Given the description of an element on the screen output the (x, y) to click on. 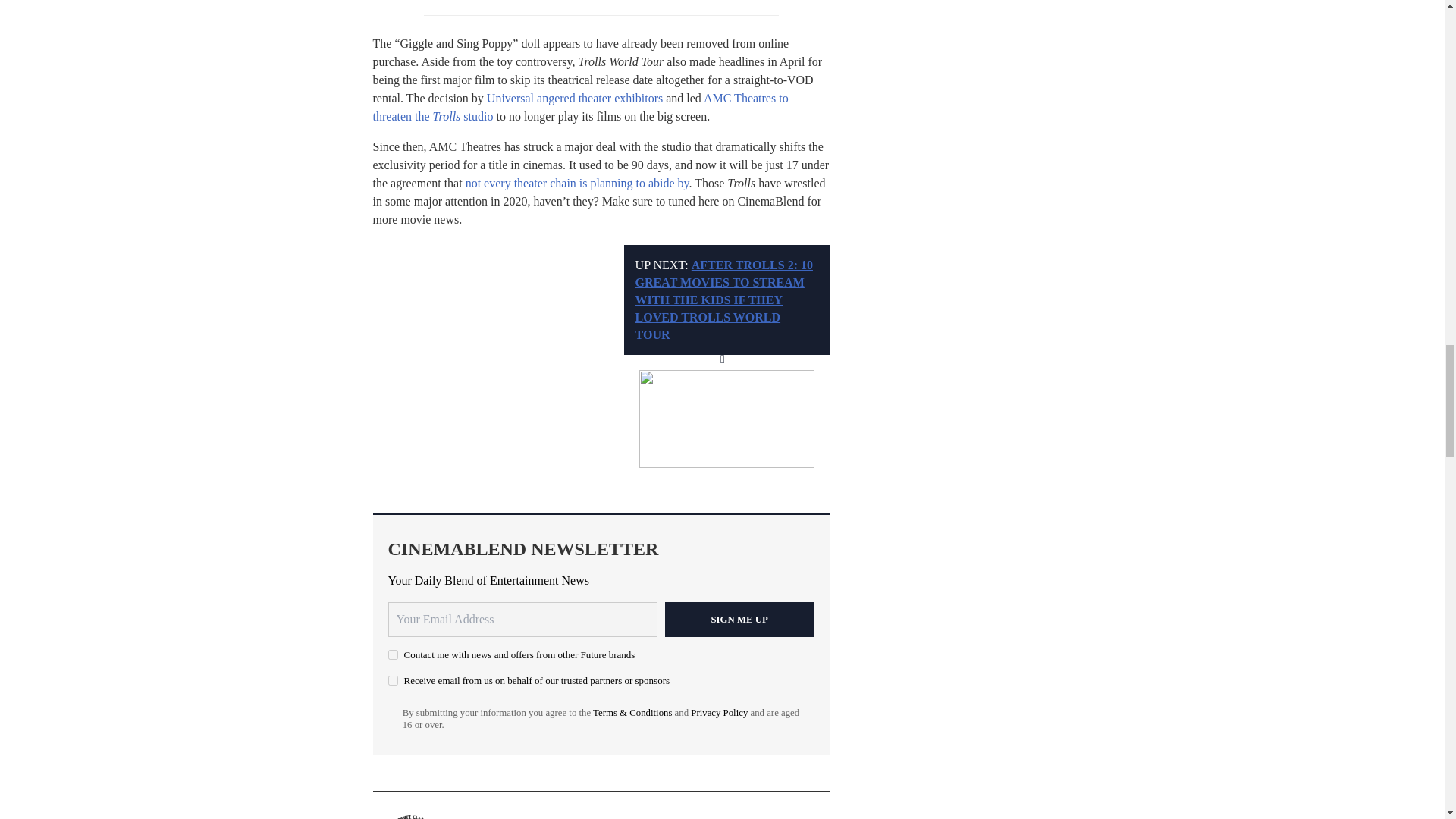
on (392, 680)
Sign me up (739, 619)
on (392, 655)
